Given the description of an element on the screen output the (x, y) to click on. 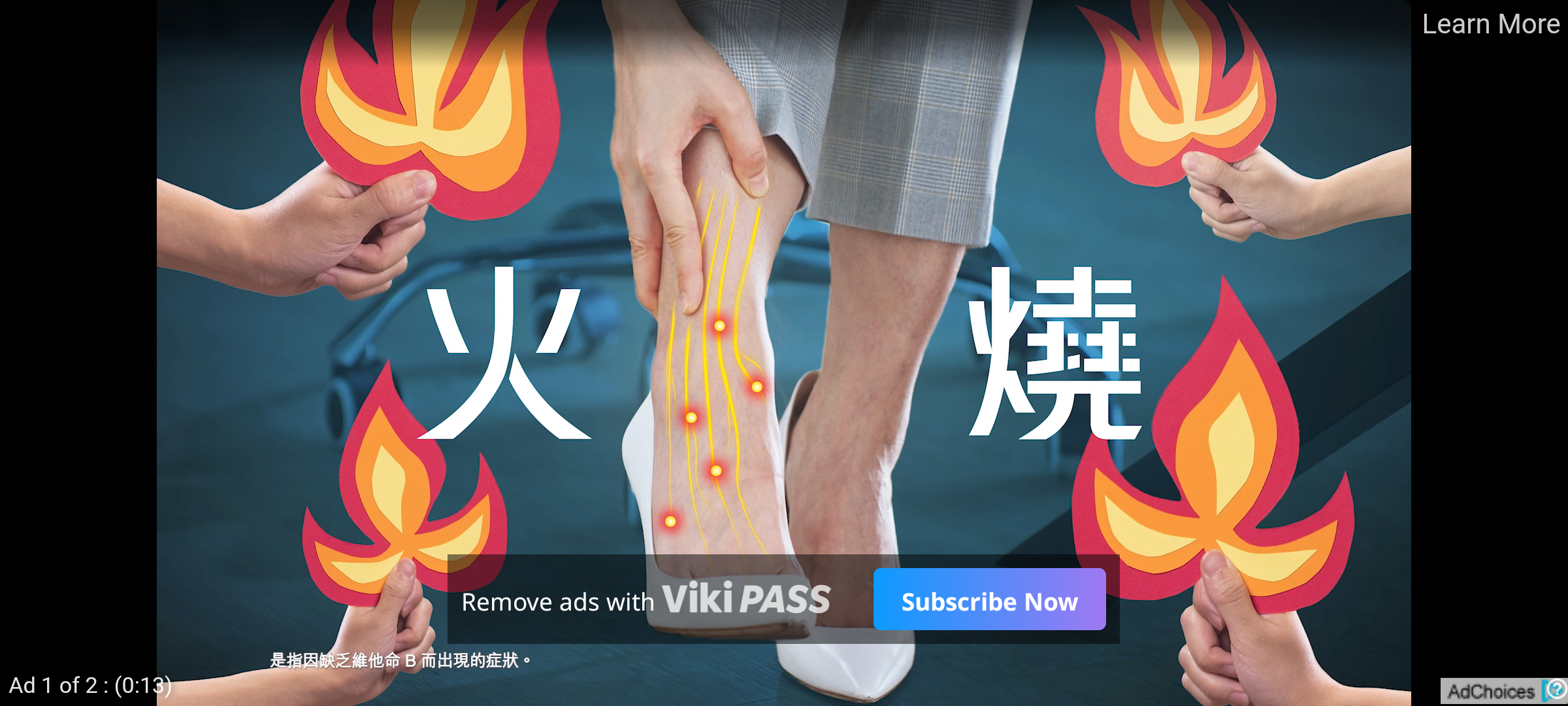
Learn More (1490, 24)
Subscribe Now (989, 599)
Ad 1 of 2 : (0:13) (90, 684)
help_outline_white_24dp_with_3px_trbl_padding (1553, 688)
get?name=admarker-full-tl (1504, 690)
